Given the description of an element on the screen output the (x, y) to click on. 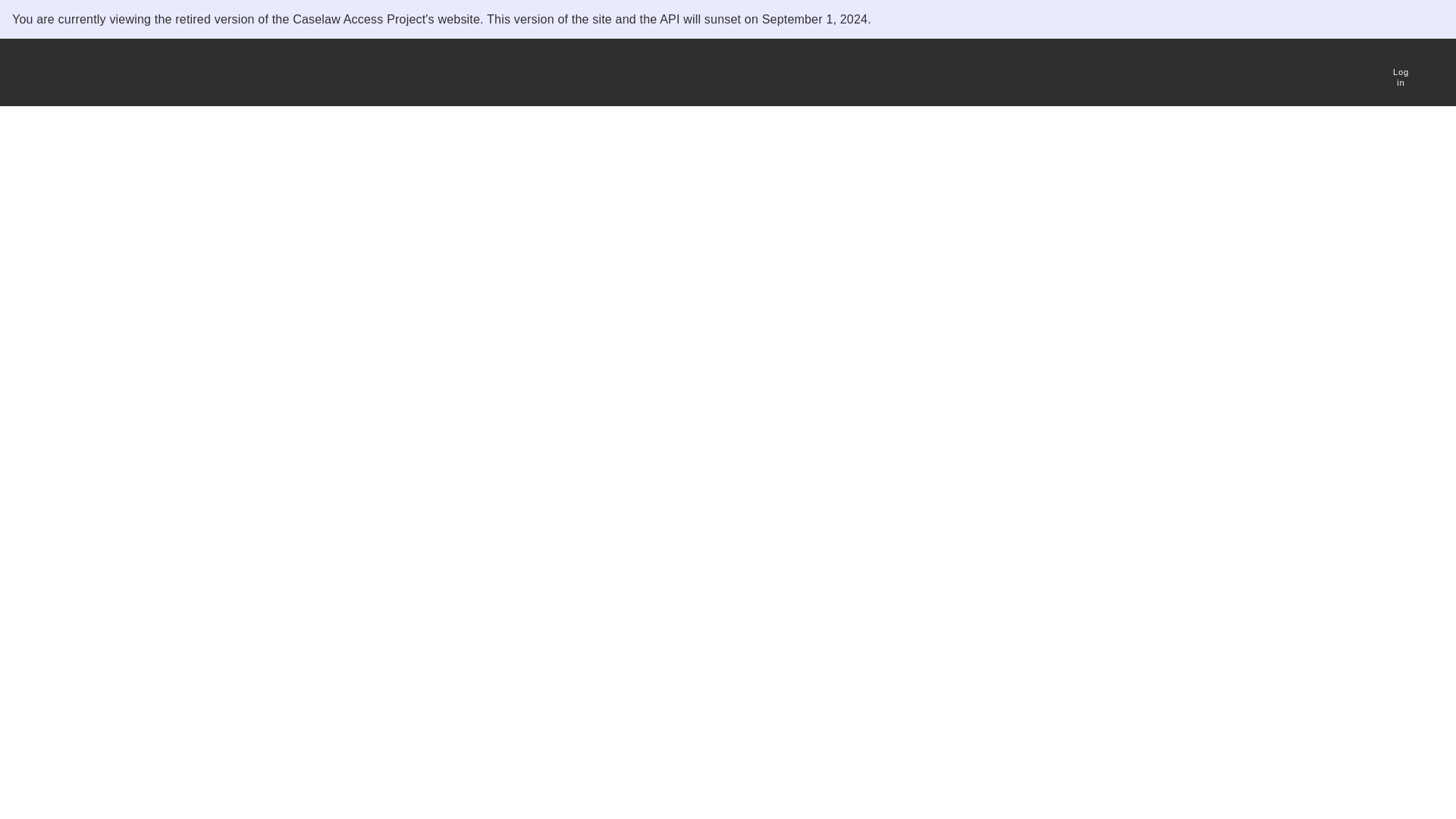
Log in (1400, 68)
